Given the description of an element on the screen output the (x, y) to click on. 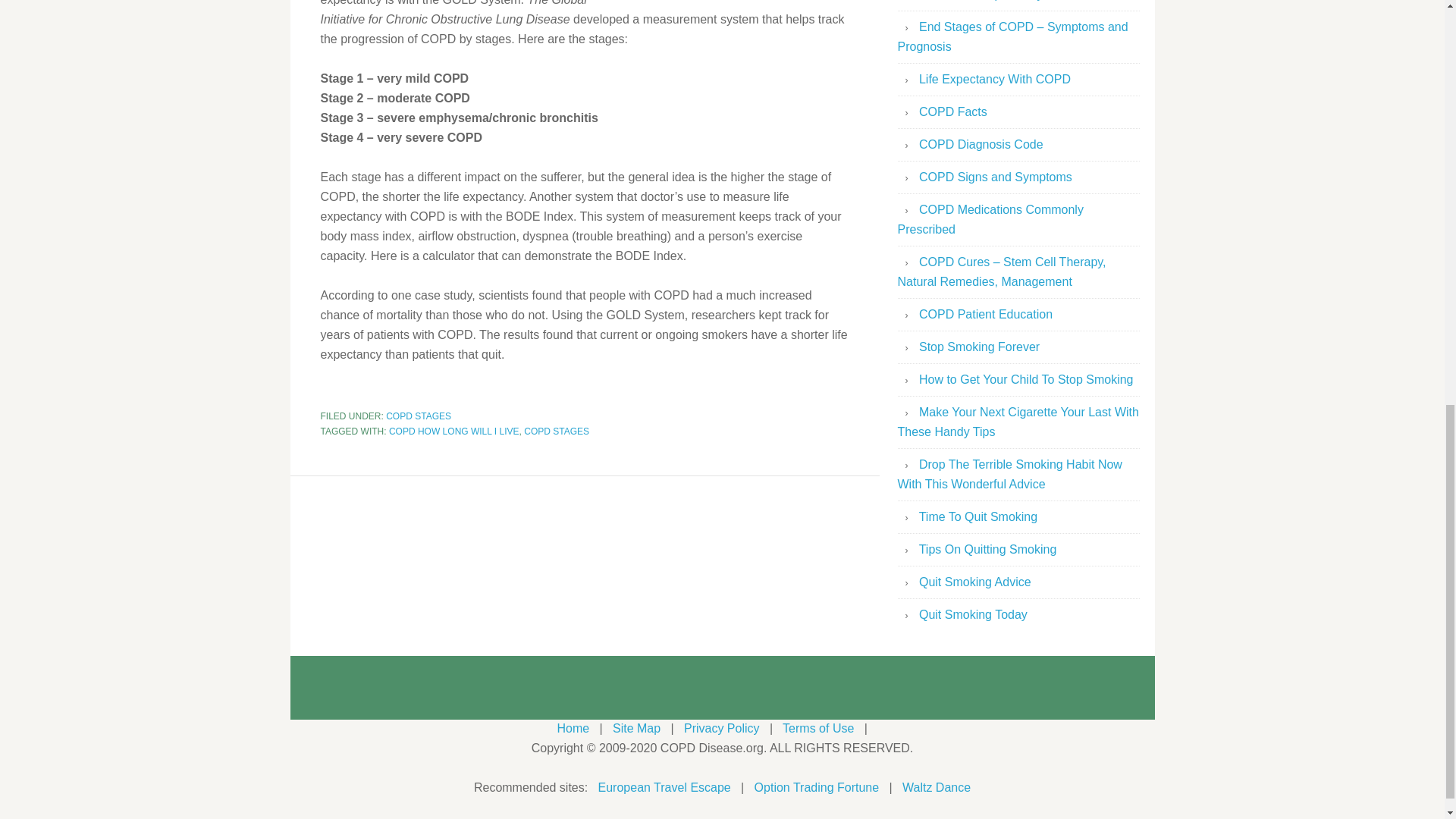
Make Your Next Cigarette Your Last With These Handy Tips (1018, 421)
COPD Diagnosis Code (980, 144)
COPD STAGES (556, 430)
Stop Smoking Forever (978, 346)
COPD HOW LONG WILL I LIVE (453, 430)
Life Expectancy With COPD (994, 78)
COPD Patient Education (985, 314)
How to Get Your Child To Stop Smoking (1026, 379)
